Given the description of an element on the screen output the (x, y) to click on. 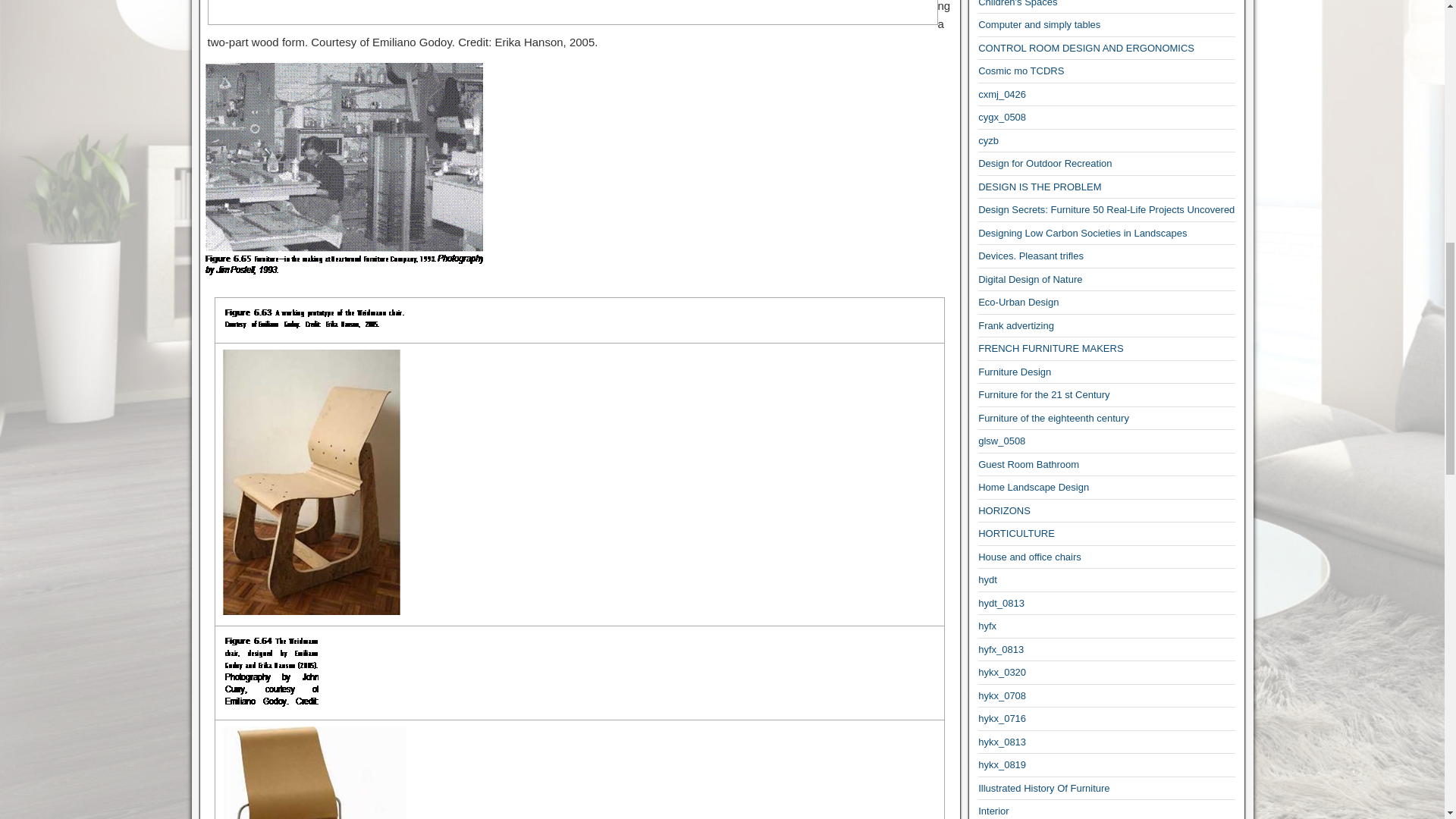
Fabrication (314, 772)
Fabrication (270, 670)
CONTROL ROOM DESIGN AND ERGONOMICS (1085, 48)
Cosmic mo TCDRS (1021, 70)
Fabrication (344, 168)
Fabrication (314, 317)
Computer and simply tables (1039, 24)
Children's Spaces (1017, 3)
